Given the description of an element on the screen output the (x, y) to click on. 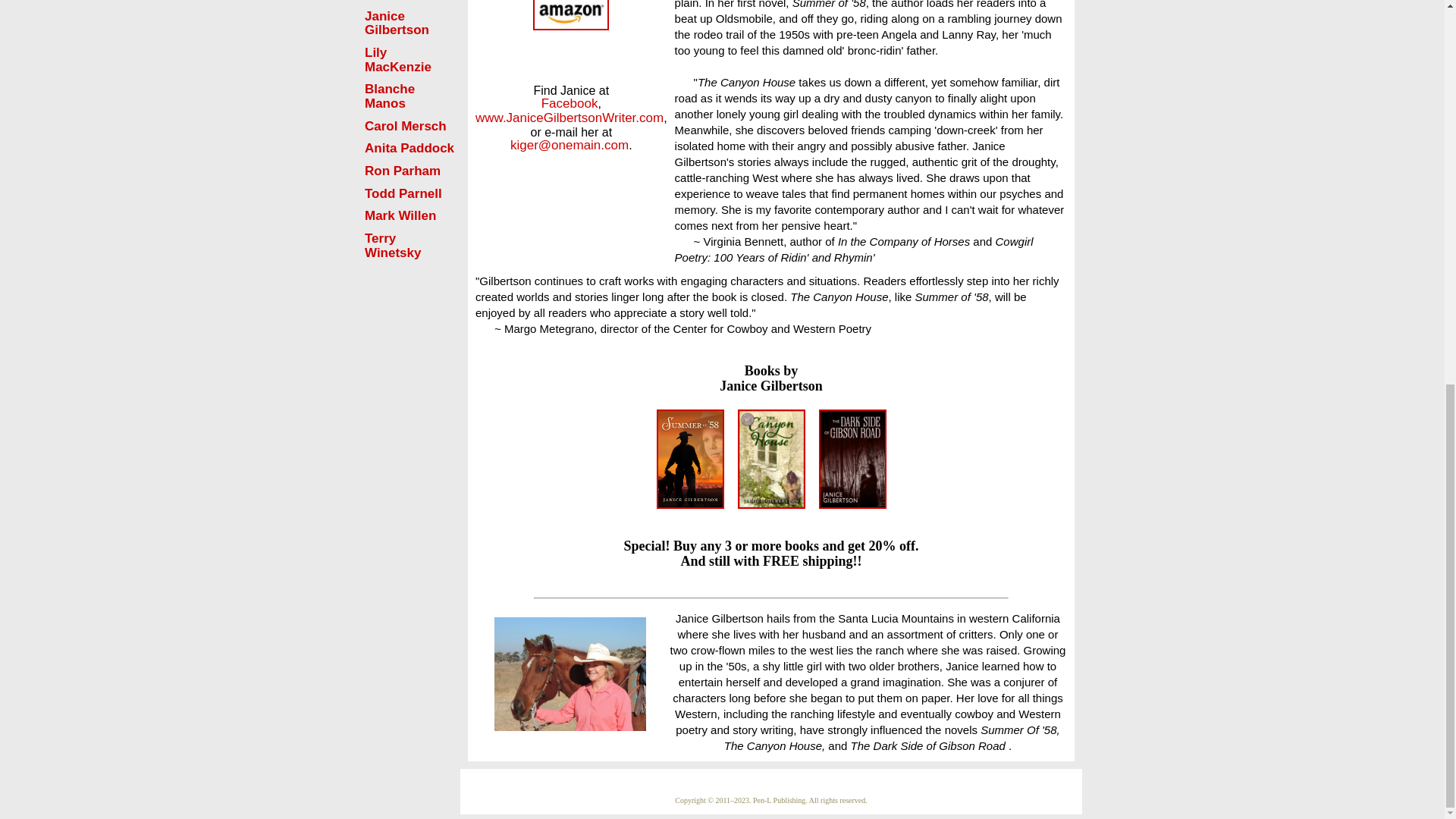
Terry Winetsky (392, 245)
Janice Gilbertson (397, 23)
Ron Parham (403, 170)
Lily MacKenzie (397, 59)
Anita Paddock (409, 147)
Blanche Manos (389, 95)
Barbara Edema (389, 0)
www.JaniceGilbertsonWriter.com (569, 117)
Mark Willen (400, 215)
Carol Mersch (405, 125)
